Given the description of an element on the screen output the (x, y) to click on. 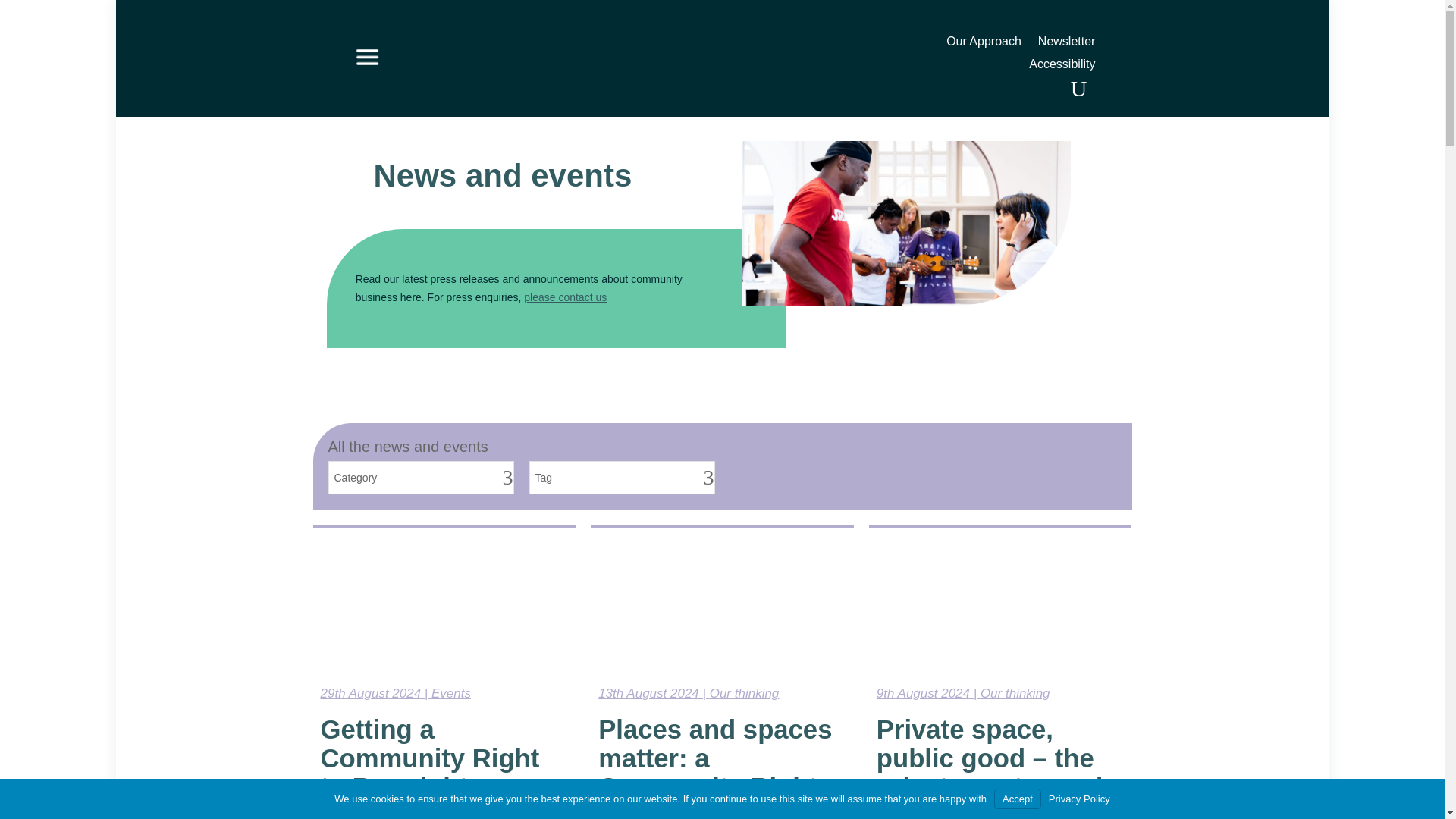
Our Approach (984, 44)
please contact us (565, 297)
Newsletter (1067, 44)
Power-To-Change-UNLT-26-2000x1000 (906, 222)
Accessibility (1061, 67)
